Given the description of an element on the screen output the (x, y) to click on. 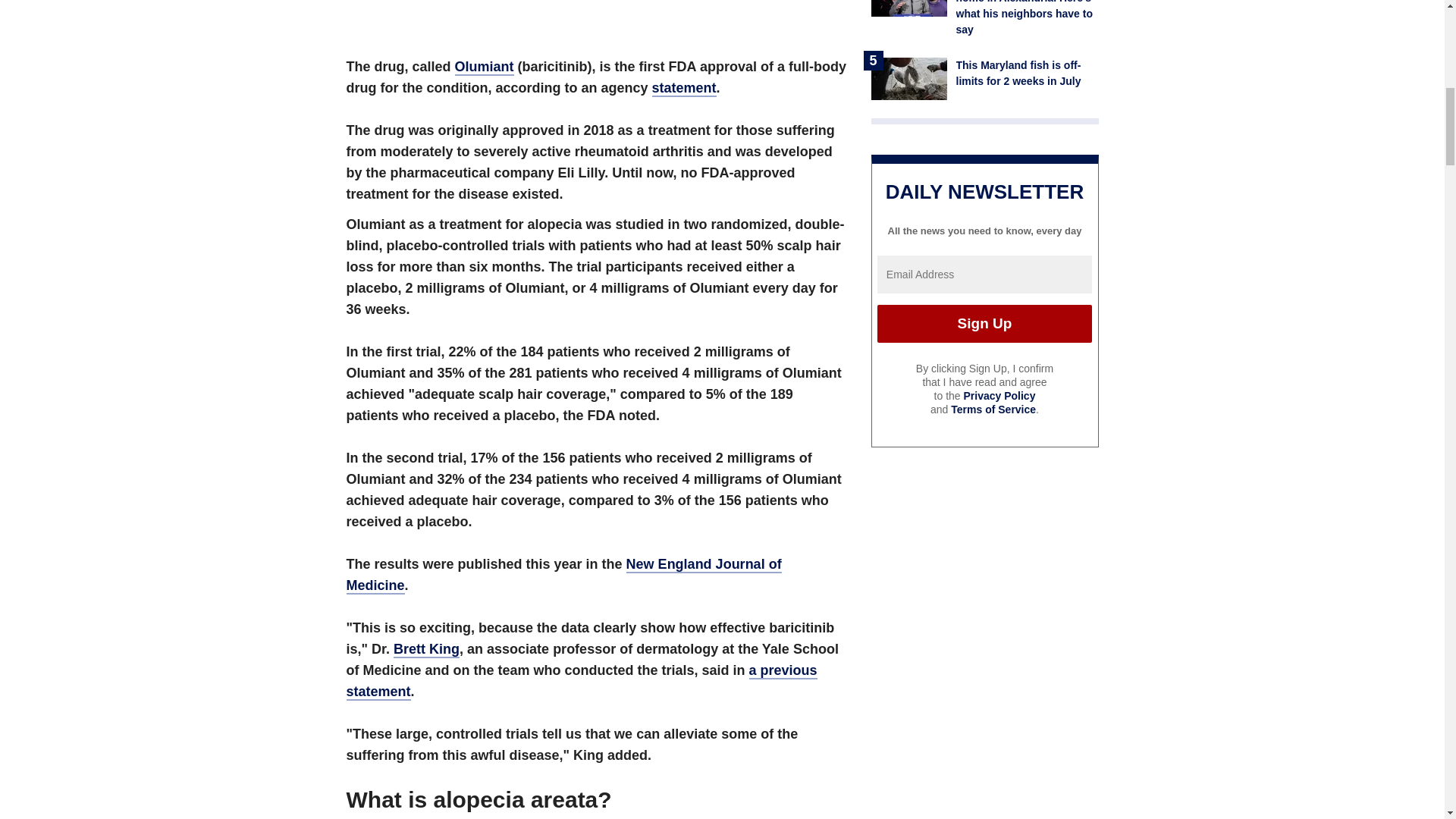
Sign Up (984, 323)
